Given the description of an element on the screen output the (x, y) to click on. 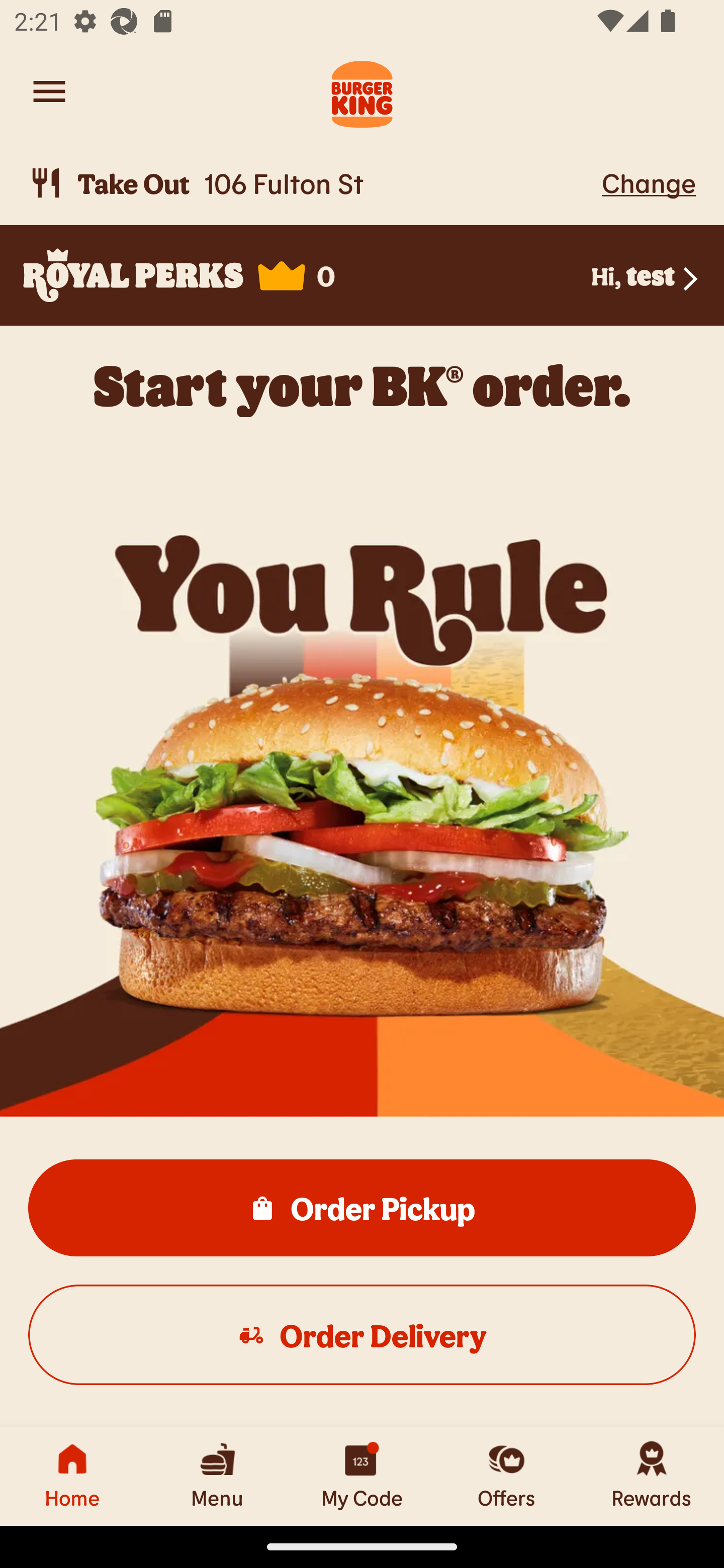
Burger King Logo. Navigate to Home (362, 91)
Navigate to account menu  (49, 91)
Take Out, 106 Fulton St  Take Out 106 Fulton St (311, 183)
Change (648, 182)
Start your BK® order. (361, 385)
, Order Pickup  Order Pickup (361, 1206)
, Order Delivery  Order Delivery (361, 1334)
Home (72, 1475)
Menu (216, 1475)
My Code (361, 1475)
Offers (506, 1475)
Rewards (651, 1475)
